Given the description of an element on the screen output the (x, y) to click on. 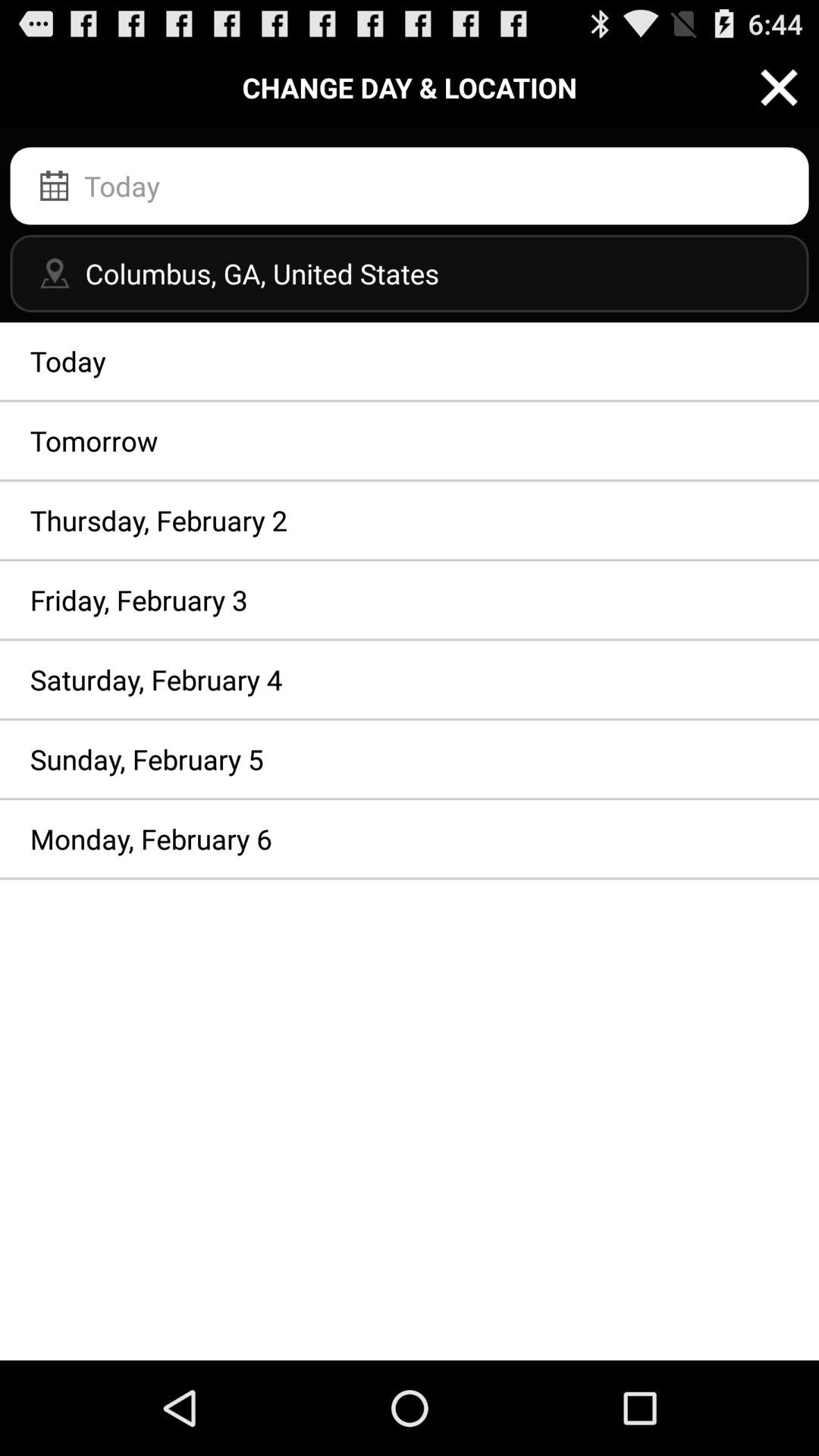
choose item above the columbus ga united (409, 185)
